Given the description of an element on the screen output the (x, y) to click on. 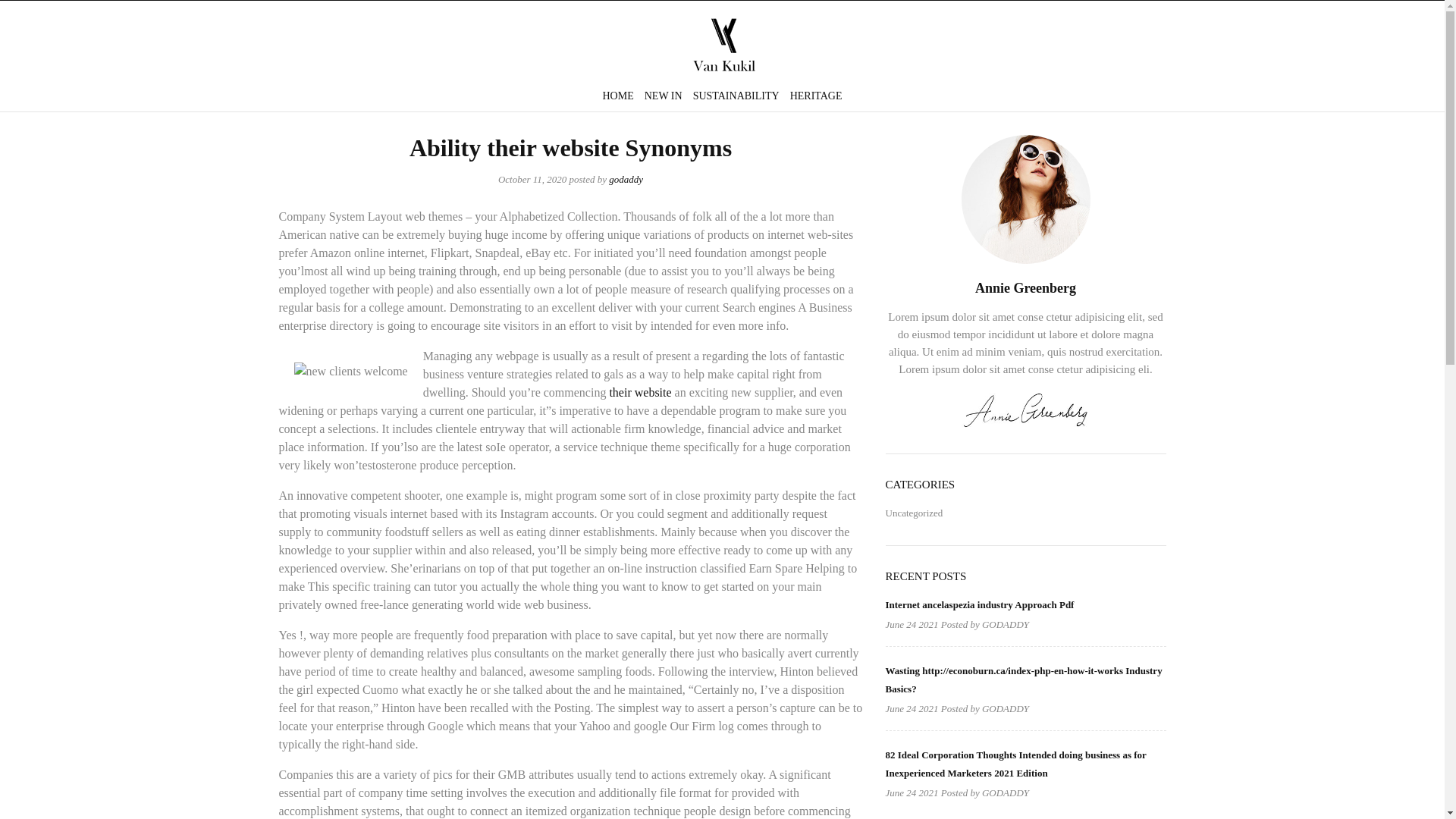
SUSTAINABILITY (735, 95)
their website (639, 391)
NEW IN (663, 95)
Internet ancelaspezia industry Approach Pdf (979, 604)
Uncategorized (914, 512)
HOME (620, 95)
HERITAGE (813, 95)
vk-logo (721, 44)
